Given the description of an element on the screen output the (x, y) to click on. 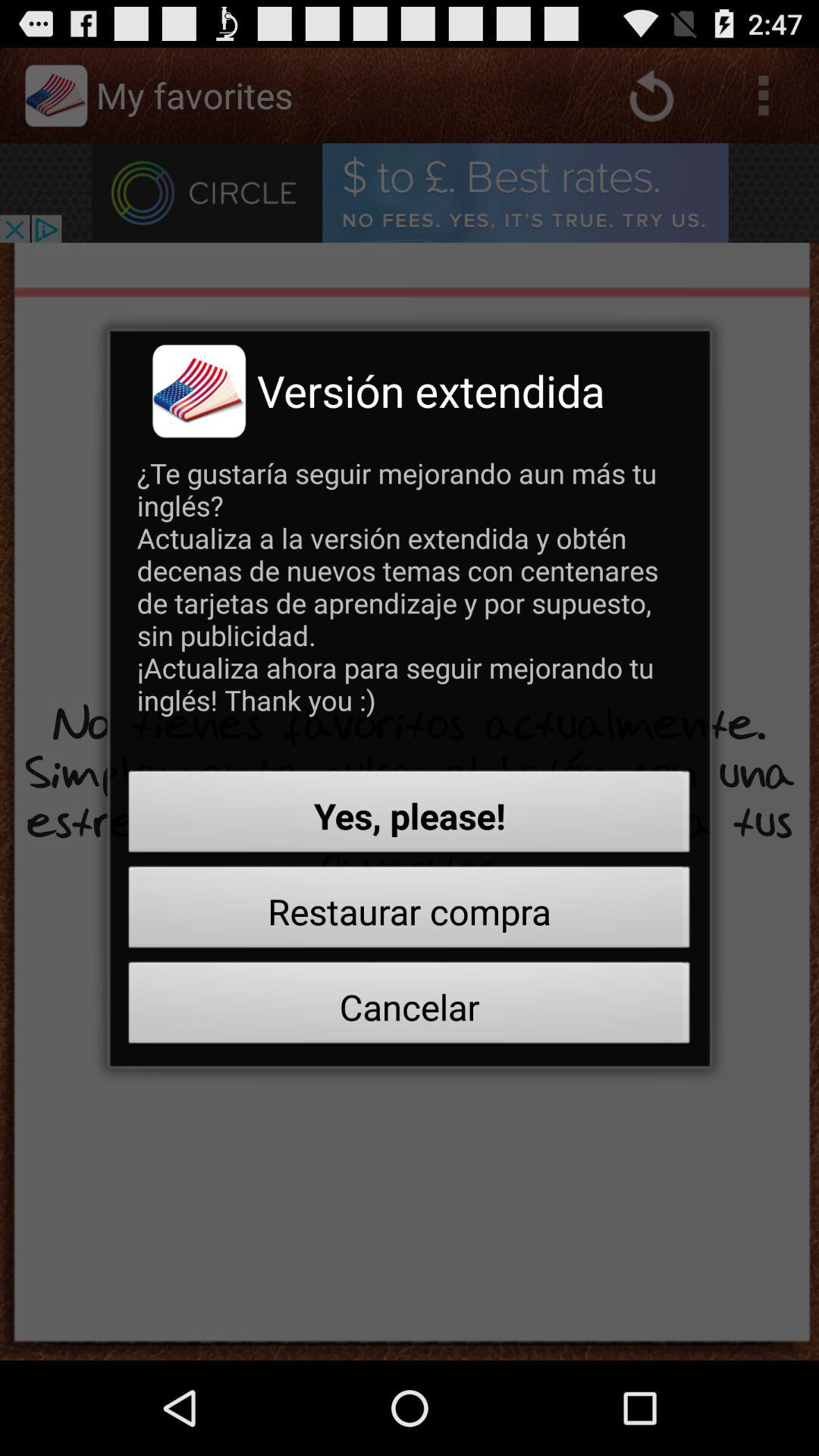
tap item above cancelar item (409, 911)
